Given the description of an element on the screen output the (x, y) to click on. 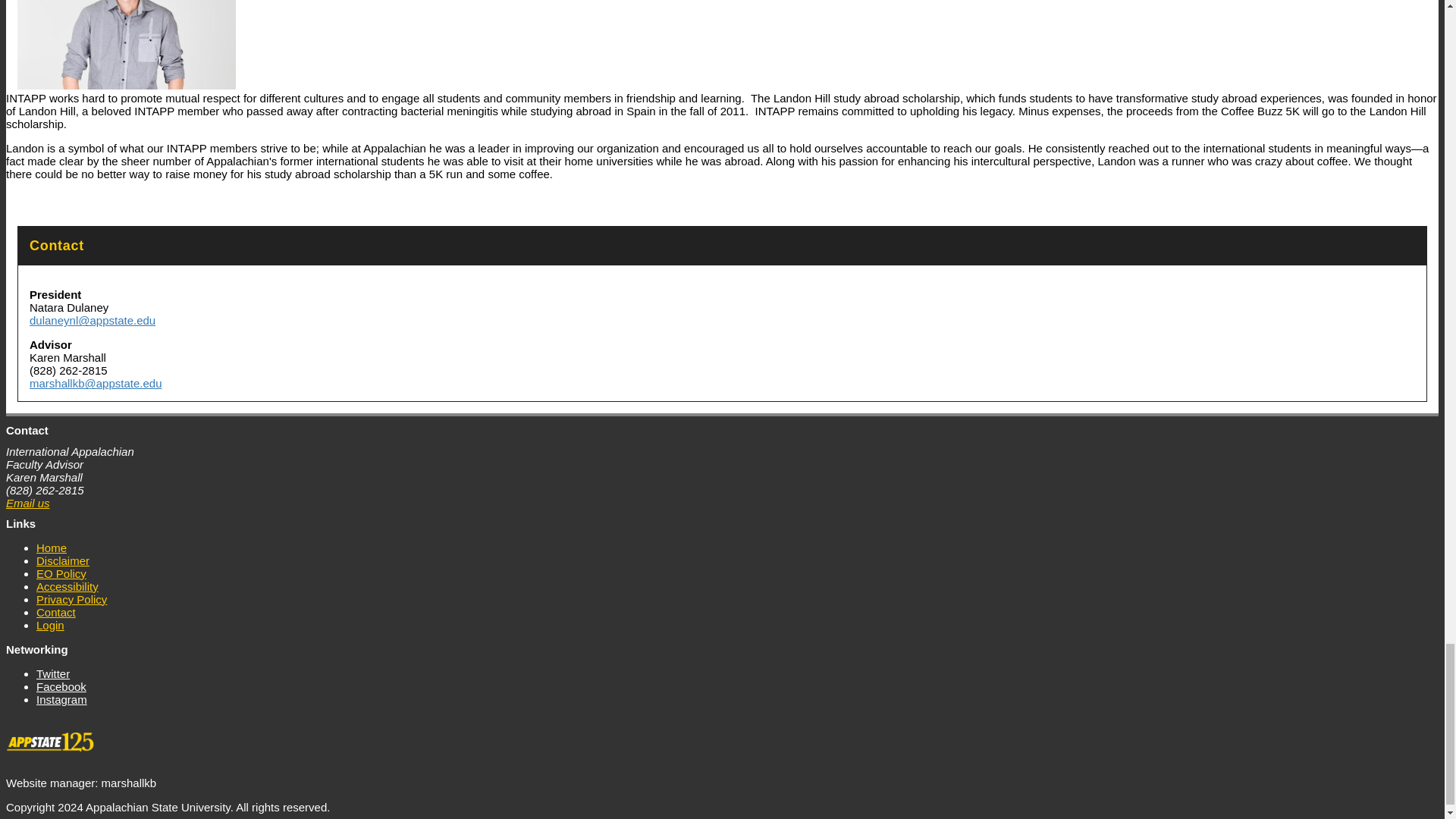
Disclaimer (62, 560)
EO Policy (60, 573)
Appalachian State University (52, 747)
Privacy Policy (71, 599)
Facebook (63, 686)
Instagram (63, 699)
Accessibility (67, 586)
Login (50, 625)
Home (51, 547)
Email us (27, 502)
Twitter (55, 673)
Contact (55, 611)
